Given the description of an element on the screen output the (x, y) to click on. 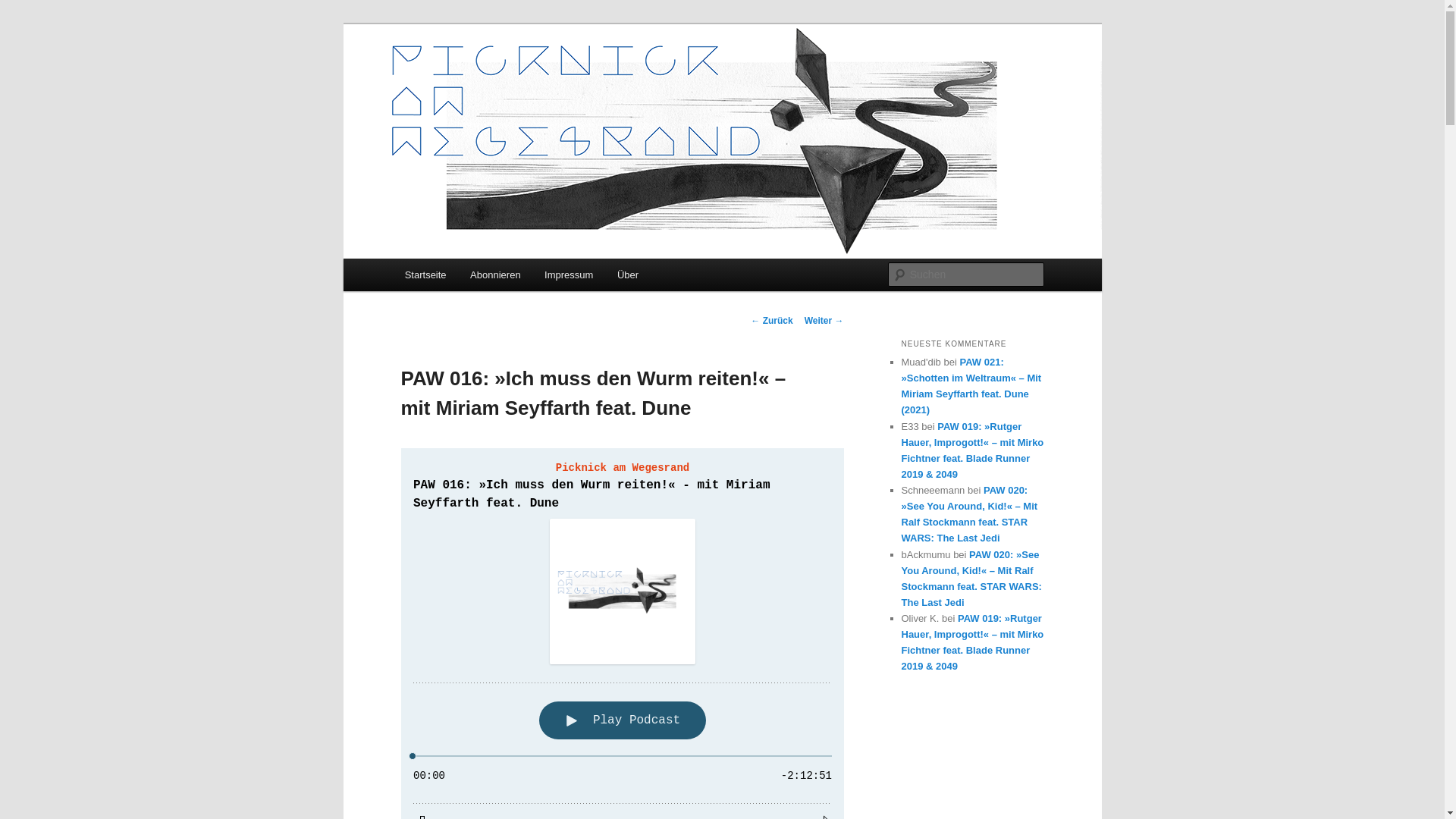
Suchen Element type: text (25, 8)
Zum Inhalt wechseln Element type: text (22, 22)
Impressum Element type: text (568, 274)
Startseite Element type: text (425, 274)
Abonnieren Element type: text (495, 274)
Picknick am Wegesrand Element type: text (530, 78)
